Given the description of an element on the screen output the (x, y) to click on. 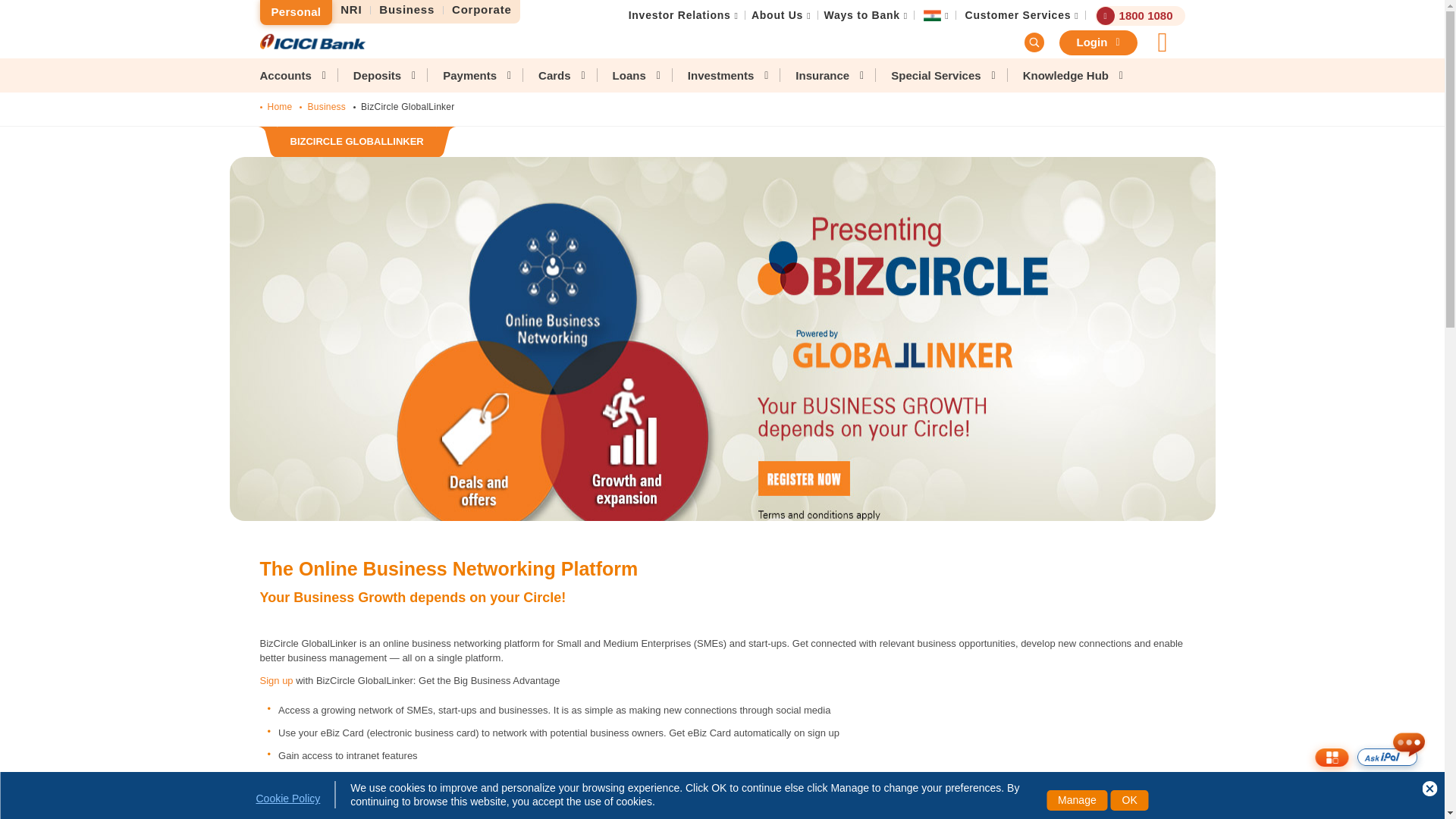
Investor Relations (679, 15)
Business (407, 9)
Ways to Bank (861, 15)
Corporate (481, 9)
Customer Services (1018, 15)
About Us (777, 15)
NRI (351, 9)
BIZCIRCLE GLOBALLINKER (355, 142)
Personal (295, 12)
